Given the description of an element on the screen output the (x, y) to click on. 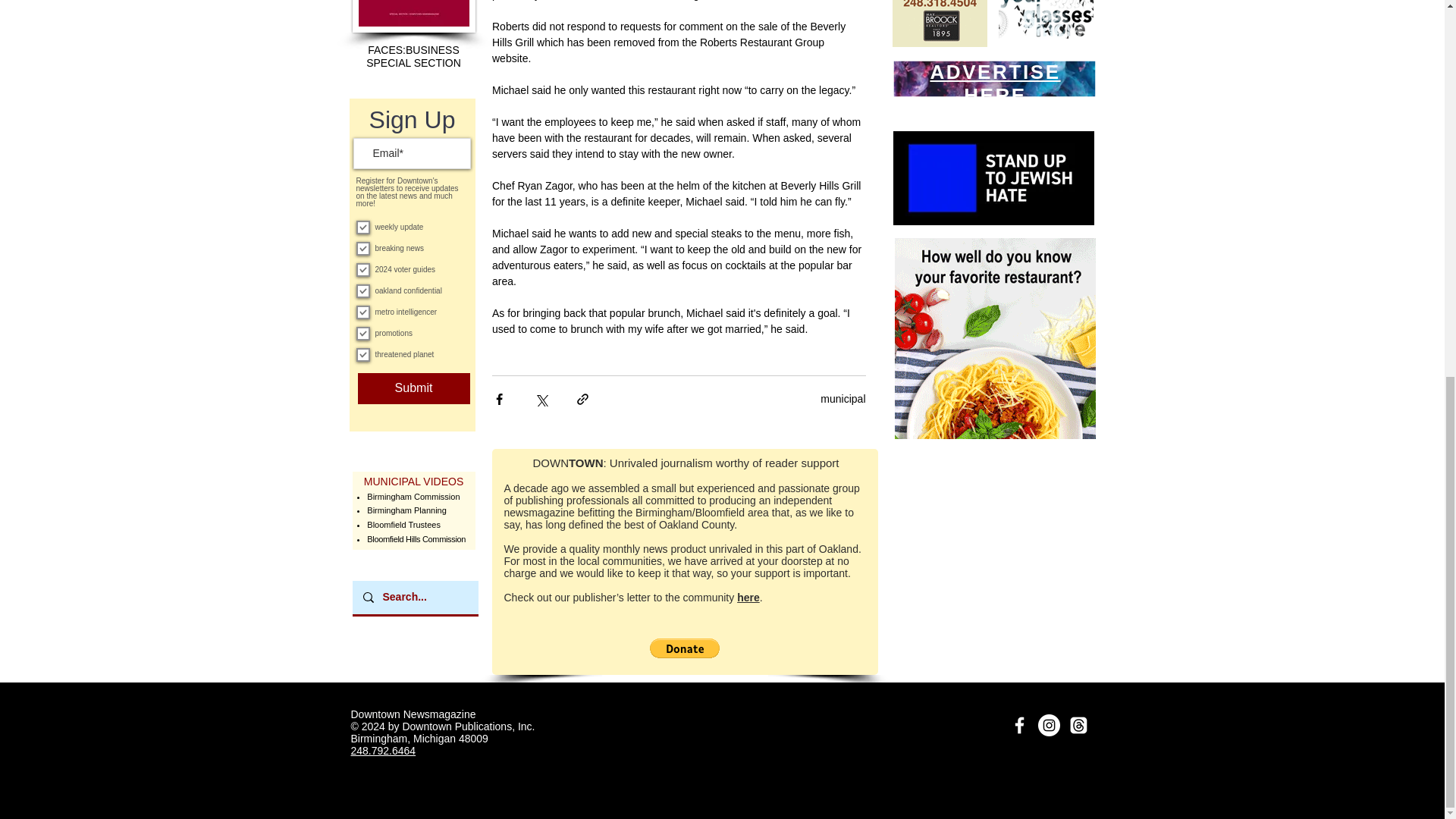
municipal (842, 398)
